Given the description of an element on the screen output the (x, y) to click on. 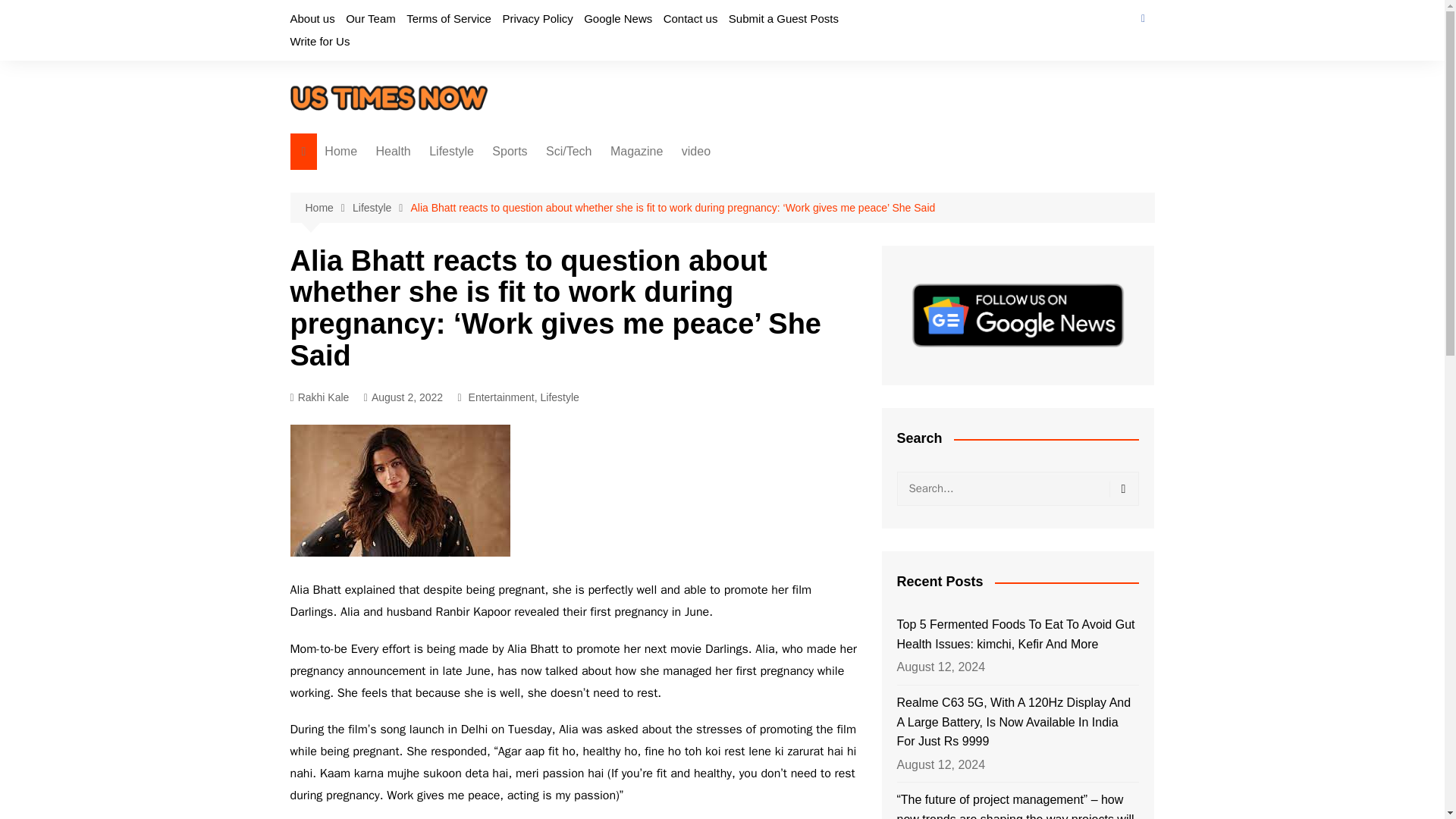
Home (341, 151)
Privacy Policy (537, 18)
Rakhi Kale (319, 397)
Our Team (371, 18)
Lifestyle (381, 208)
August 2, 2022 (403, 397)
Magazine (635, 151)
video (695, 151)
Submit a Guest Posts (783, 18)
Lifestyle (451, 151)
